Given the description of an element on the screen output the (x, y) to click on. 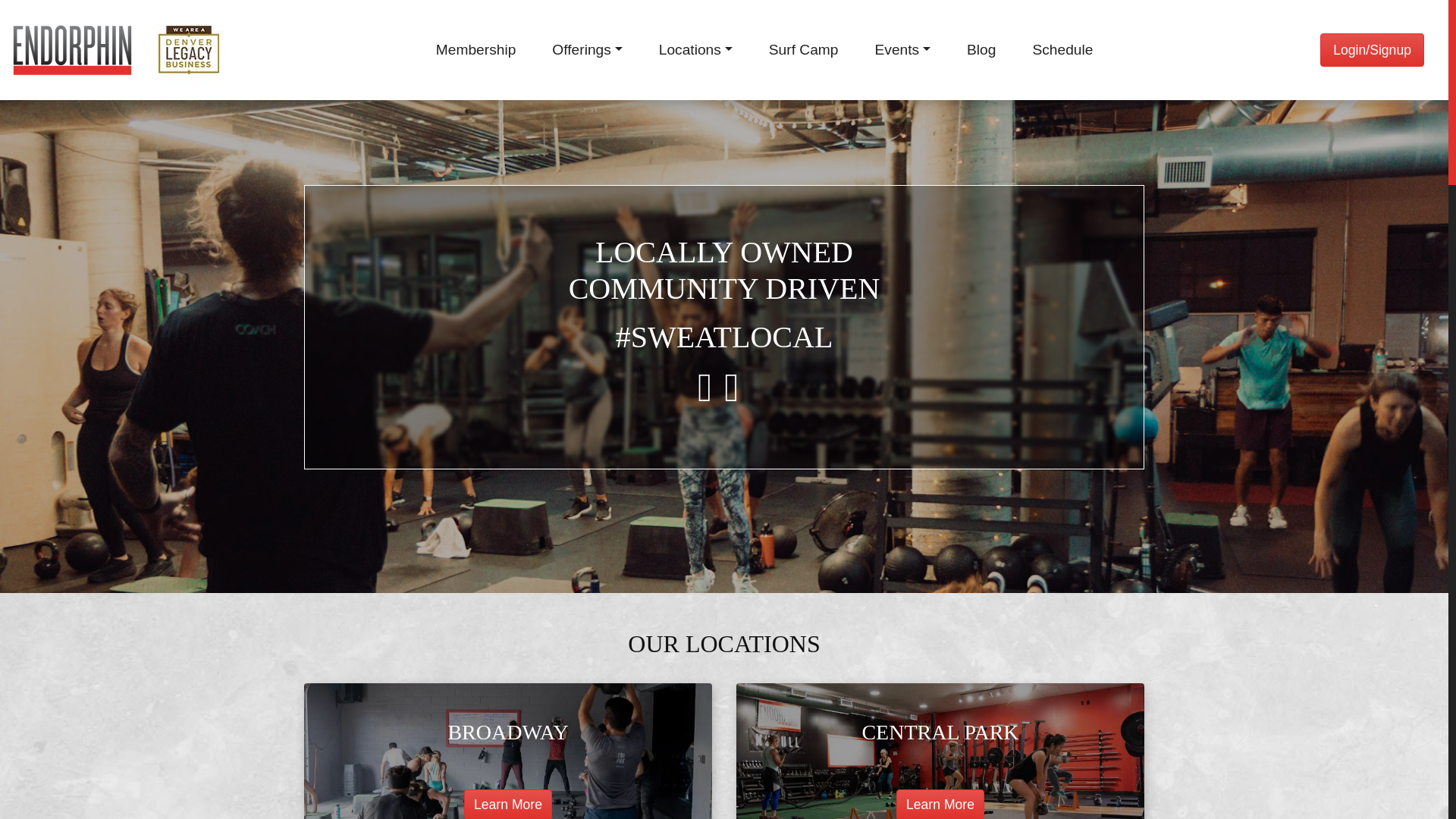
Events (902, 50)
Surf Camp (804, 50)
Offerings (587, 50)
Membership (475, 50)
Locations (695, 50)
